Given the description of an element on the screen output the (x, y) to click on. 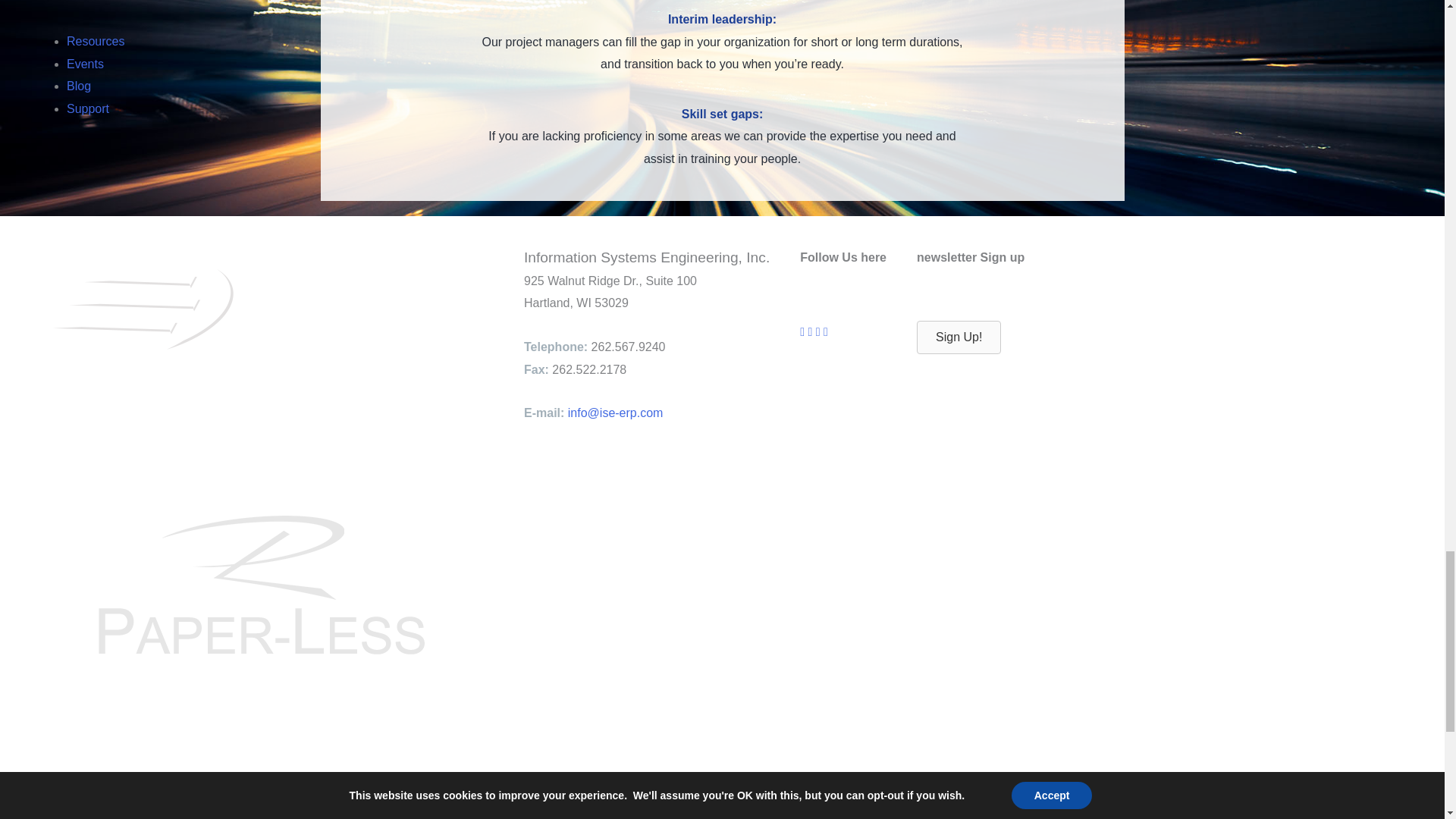
ISE-Logo-Reversed (194, 313)
